Given the description of an element on the screen output the (x, y) to click on. 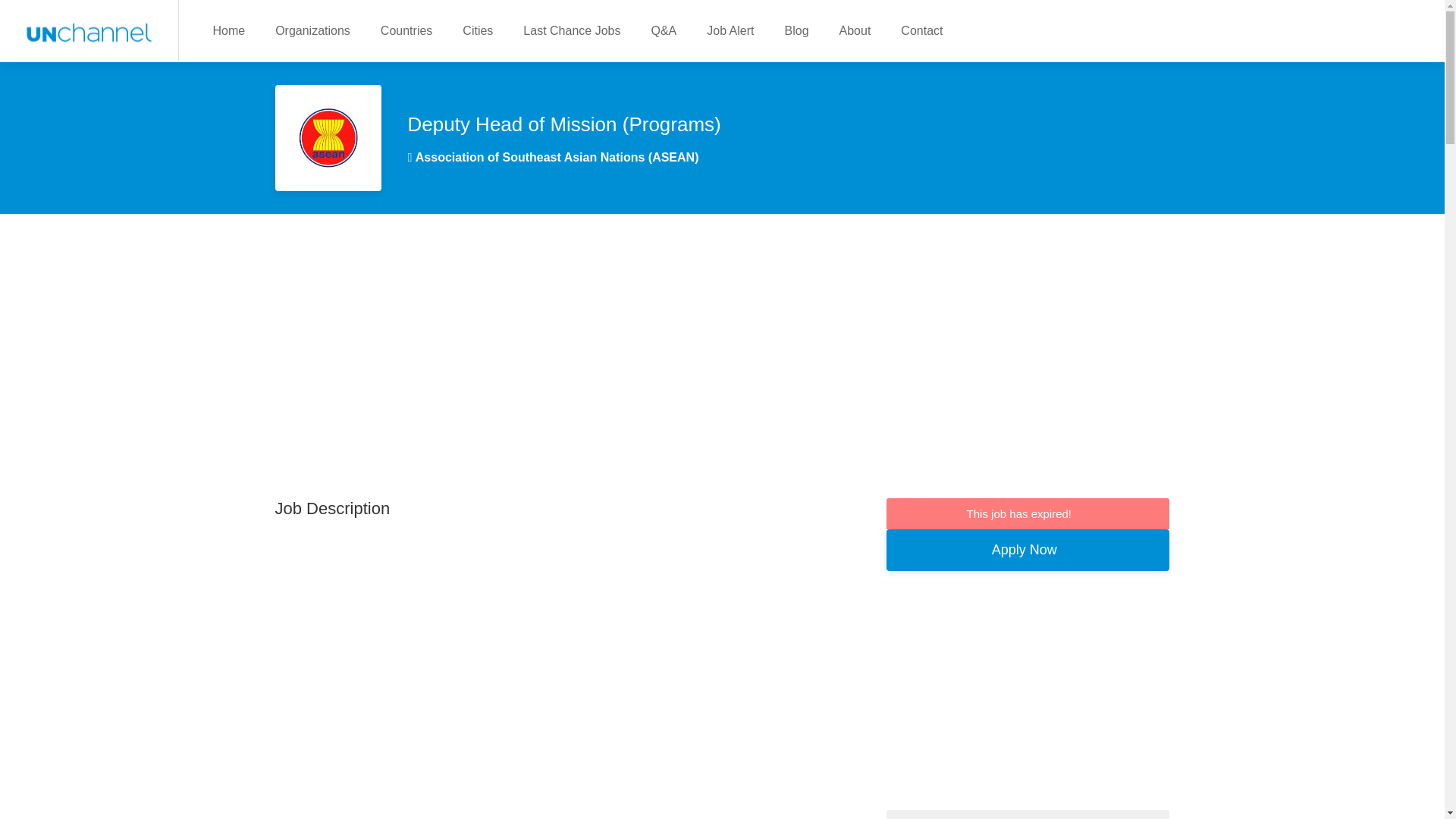
Cities (477, 30)
About (855, 30)
Last Chance Jobs (571, 30)
Advertisement (1027, 703)
Contact (921, 30)
Advertisement (563, 668)
Job Alert (730, 30)
Home (228, 30)
Organizations (312, 30)
Apply Now (1027, 549)
Blog (797, 30)
Countries (406, 30)
